Given the description of an element on the screen output the (x, y) to click on. 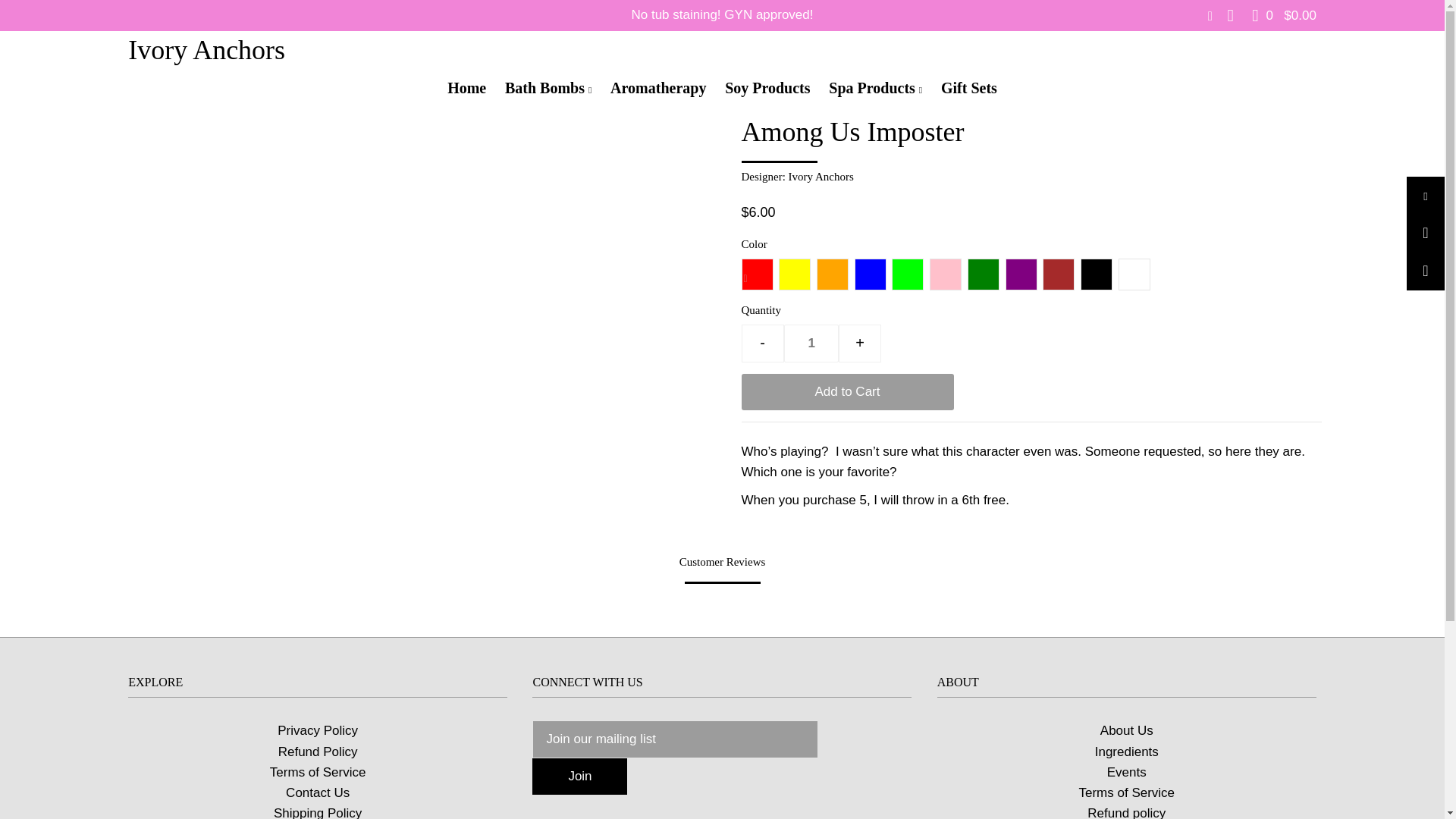
Ivory Anchors (206, 49)
Gift Sets (968, 87)
Bath Bombs (547, 87)
Join (579, 776)
Soy Products (766, 87)
Aromatherapy (657, 87)
1 (811, 343)
Home (466, 87)
Spa Products (875, 87)
Add to Cart (847, 391)
